Given the description of an element on the screen output the (x, y) to click on. 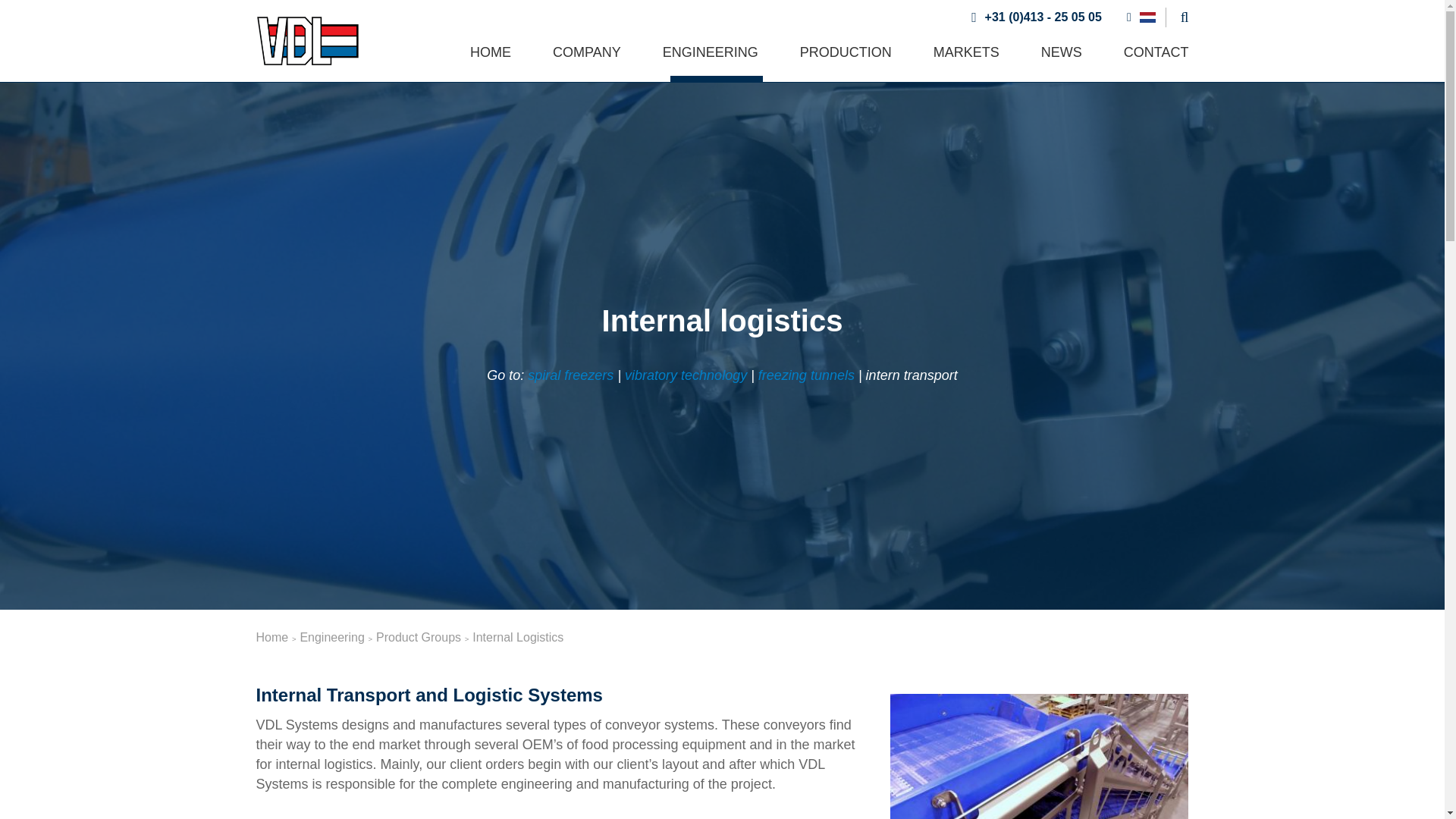
Triltechniek (685, 375)
Spiraalvriezers (569, 375)
